Given the description of an element on the screen output the (x, y) to click on. 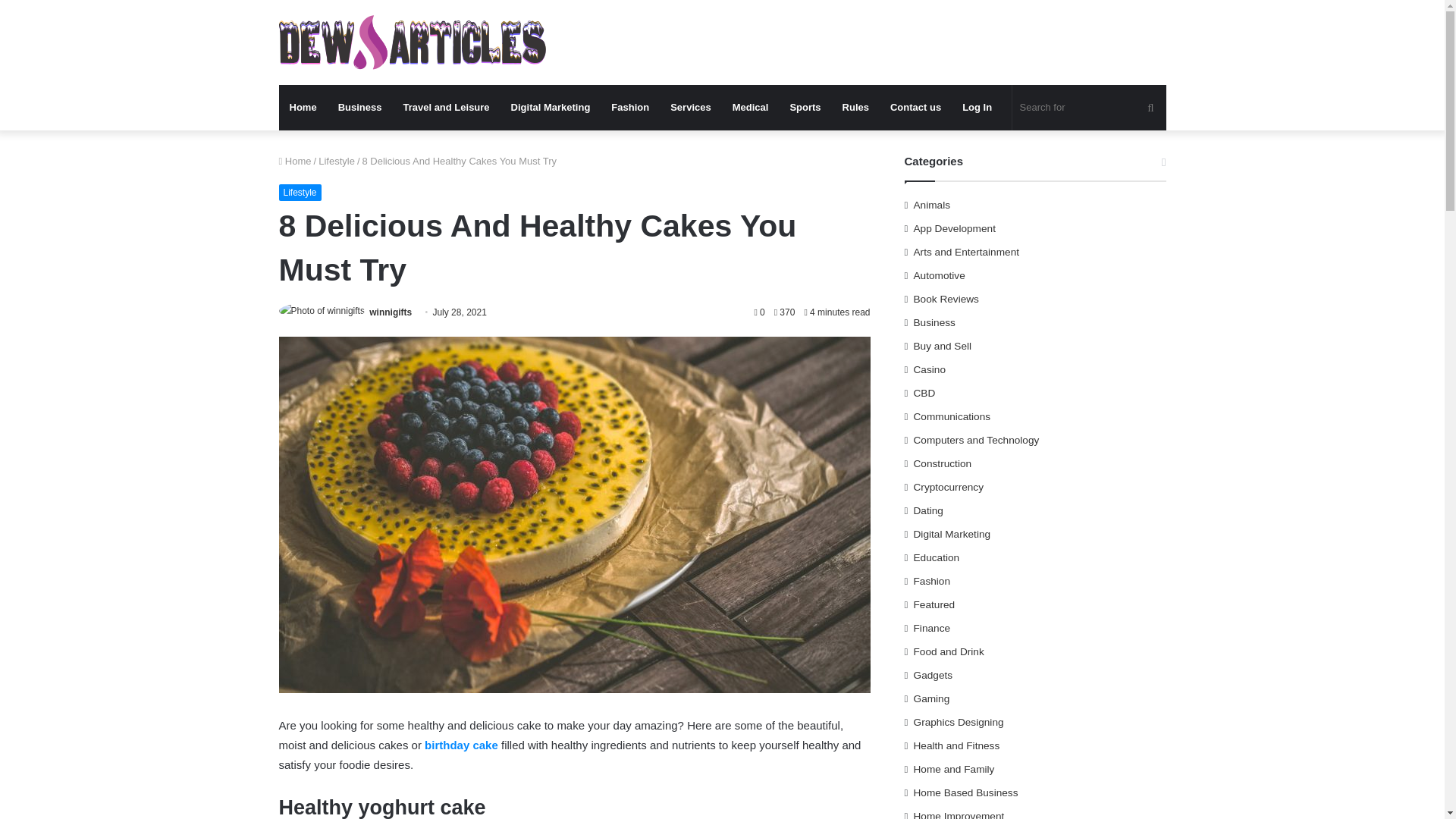
Lifestyle (336, 161)
birthday cake (461, 744)
winnigifts (390, 312)
Home (295, 161)
Services (690, 107)
Search for (1088, 107)
Home (303, 107)
Dew Articles (412, 42)
Fashion (629, 107)
Log In (977, 107)
